Given the description of an element on the screen output the (x, y) to click on. 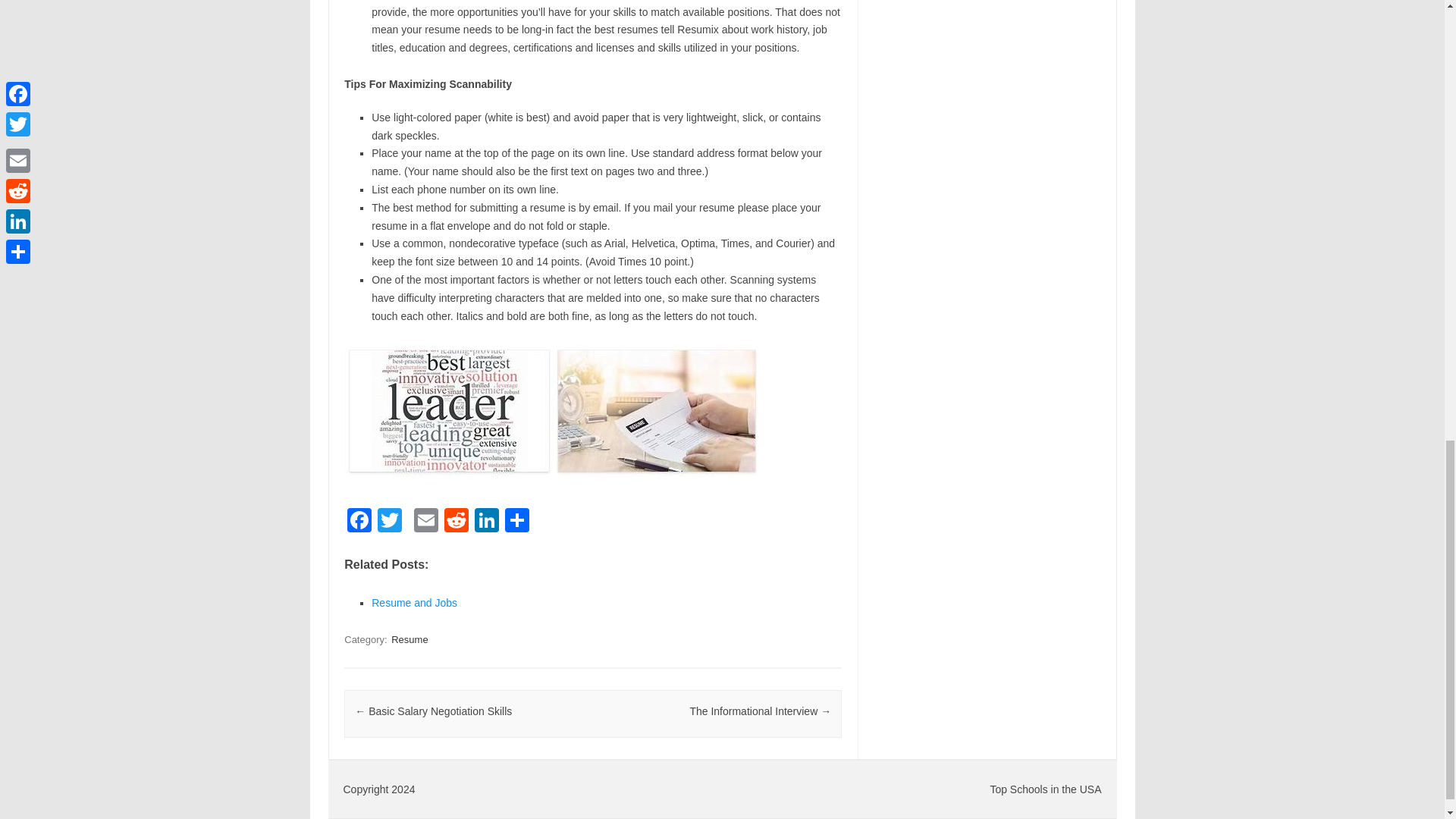
Resume (409, 639)
Facebook (358, 521)
Email (425, 521)
Email (425, 521)
Reddit (456, 521)
LinkedIn (486, 521)
Twitter (389, 521)
Twitter (389, 521)
Facebook (358, 521)
Reddit (456, 521)
